Given the description of an element on the screen output the (x, y) to click on. 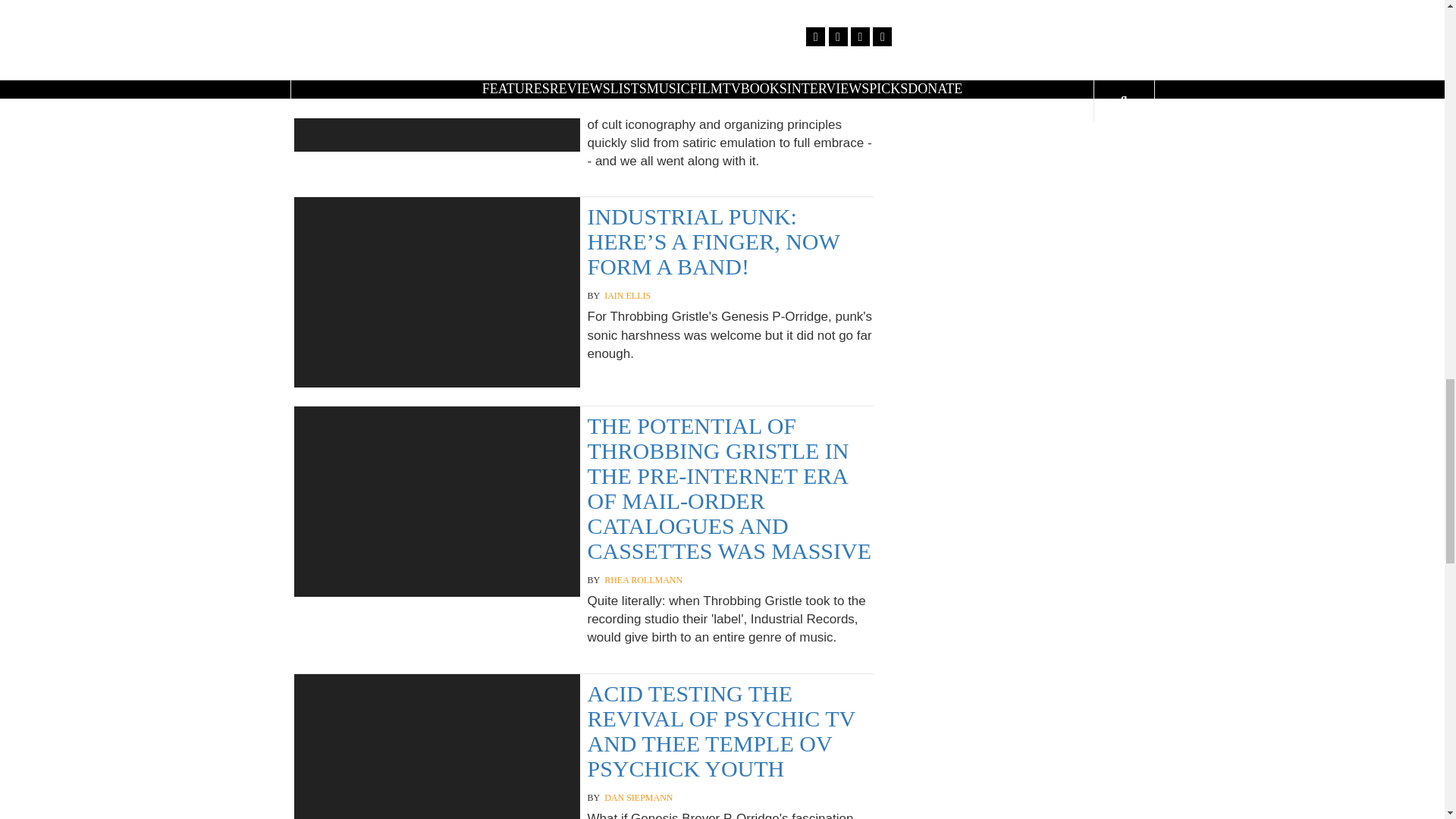
Iain Ellis (627, 295)
Dan Siepmann (638, 84)
Dan Siepmann (638, 797)
Rhea Rollmann (643, 580)
